Given the description of an element on the screen output the (x, y) to click on. 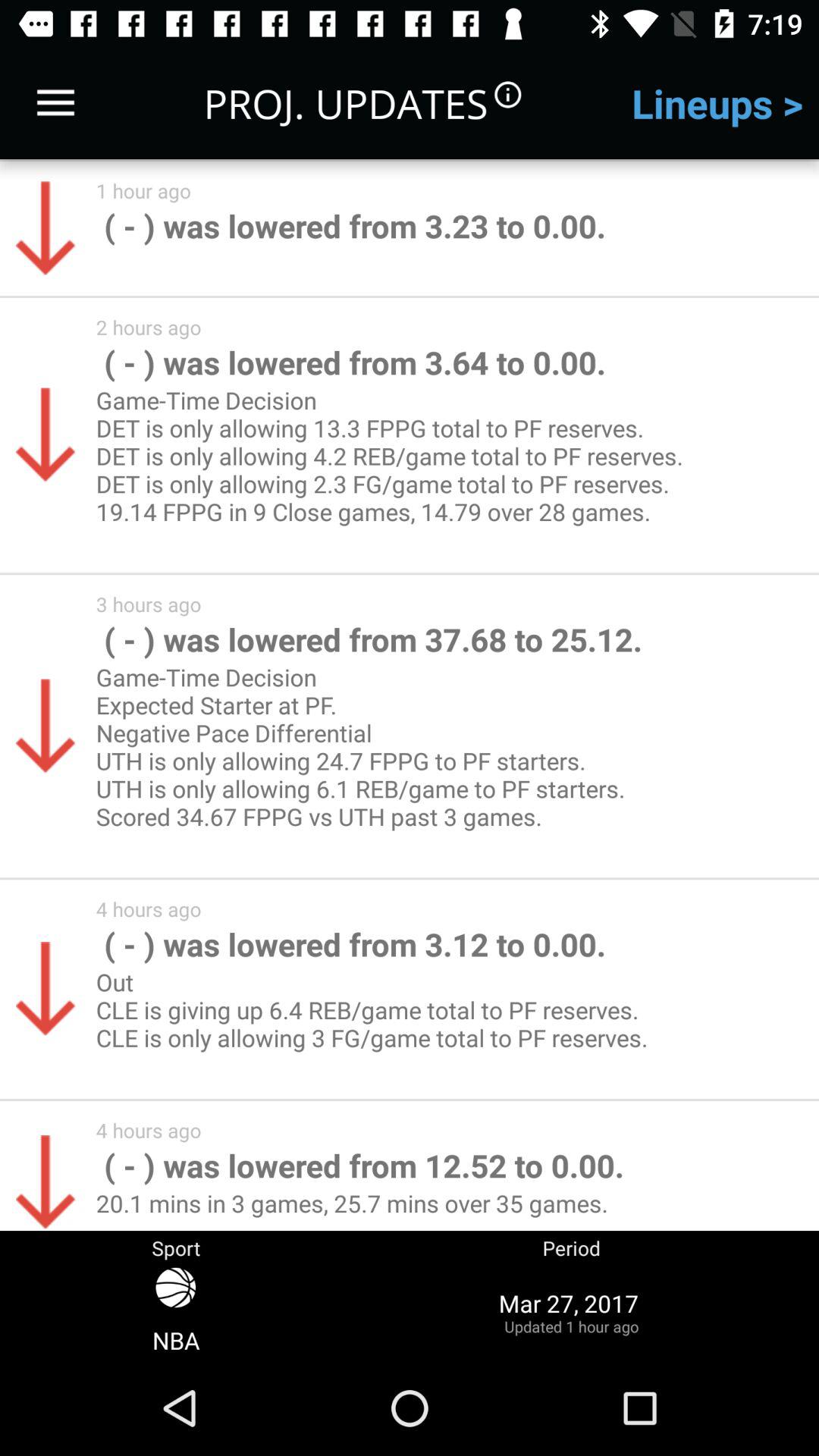
turn off mar 27 2017 (571, 1311)
